Given the description of an element on the screen output the (x, y) to click on. 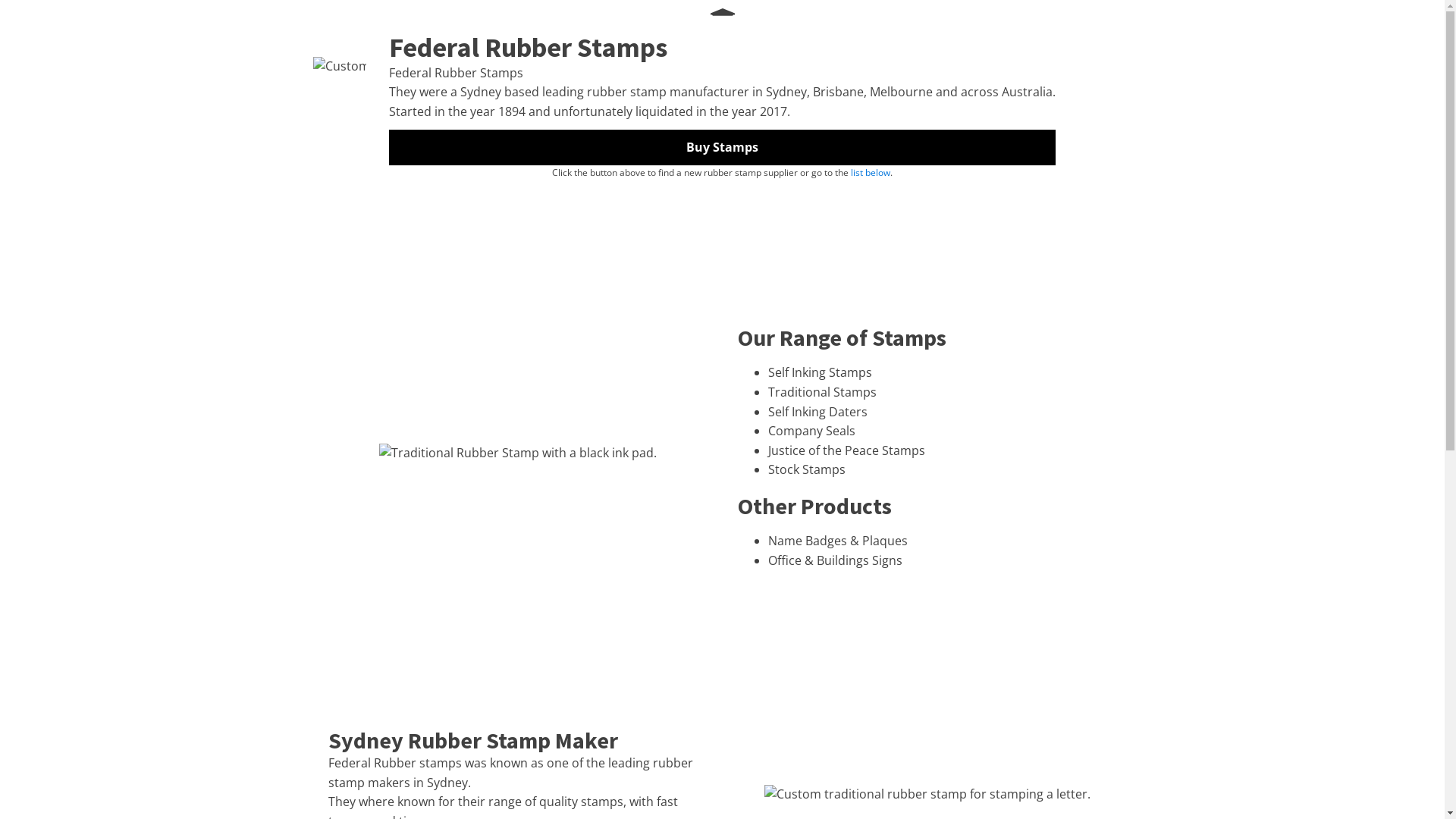
Buy Stamps Element type: text (722, 147)
list below Element type: text (870, 172)
